Given the description of an element on the screen output the (x, y) to click on. 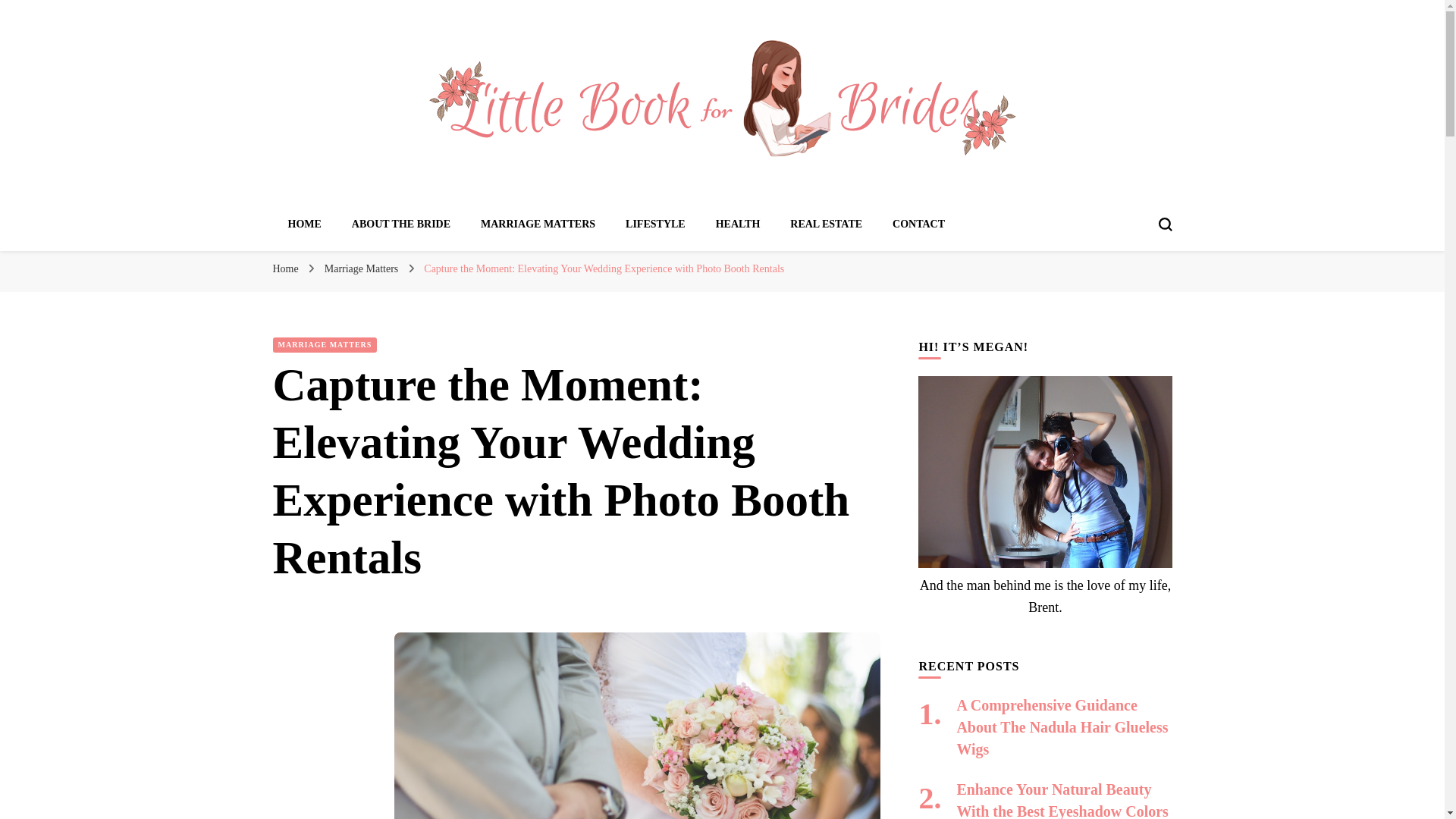
Little Book for Brides (453, 205)
CONTACT (918, 224)
MARRIAGE MATTERS (325, 344)
MARRIAGE MATTERS (537, 224)
LIFESTYLE (655, 224)
Home (285, 268)
HOME (304, 224)
HEALTH (738, 224)
Marriage Matters (362, 268)
ABOUT THE BRIDE (400, 224)
REAL ESTATE (825, 224)
